Given the description of an element on the screen output the (x, y) to click on. 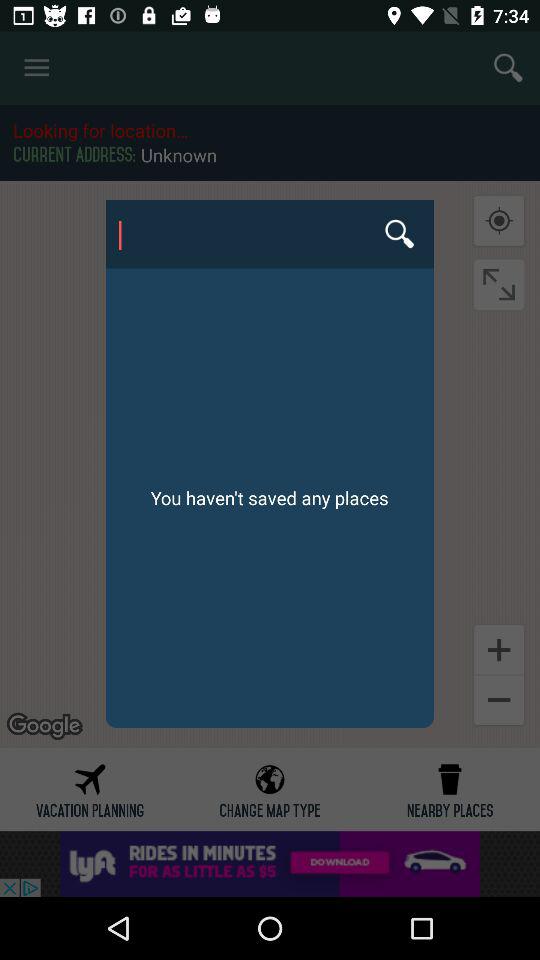
jump until the san
san francisco
 icon (269, 234)
